Given the description of an element on the screen output the (x, y) to click on. 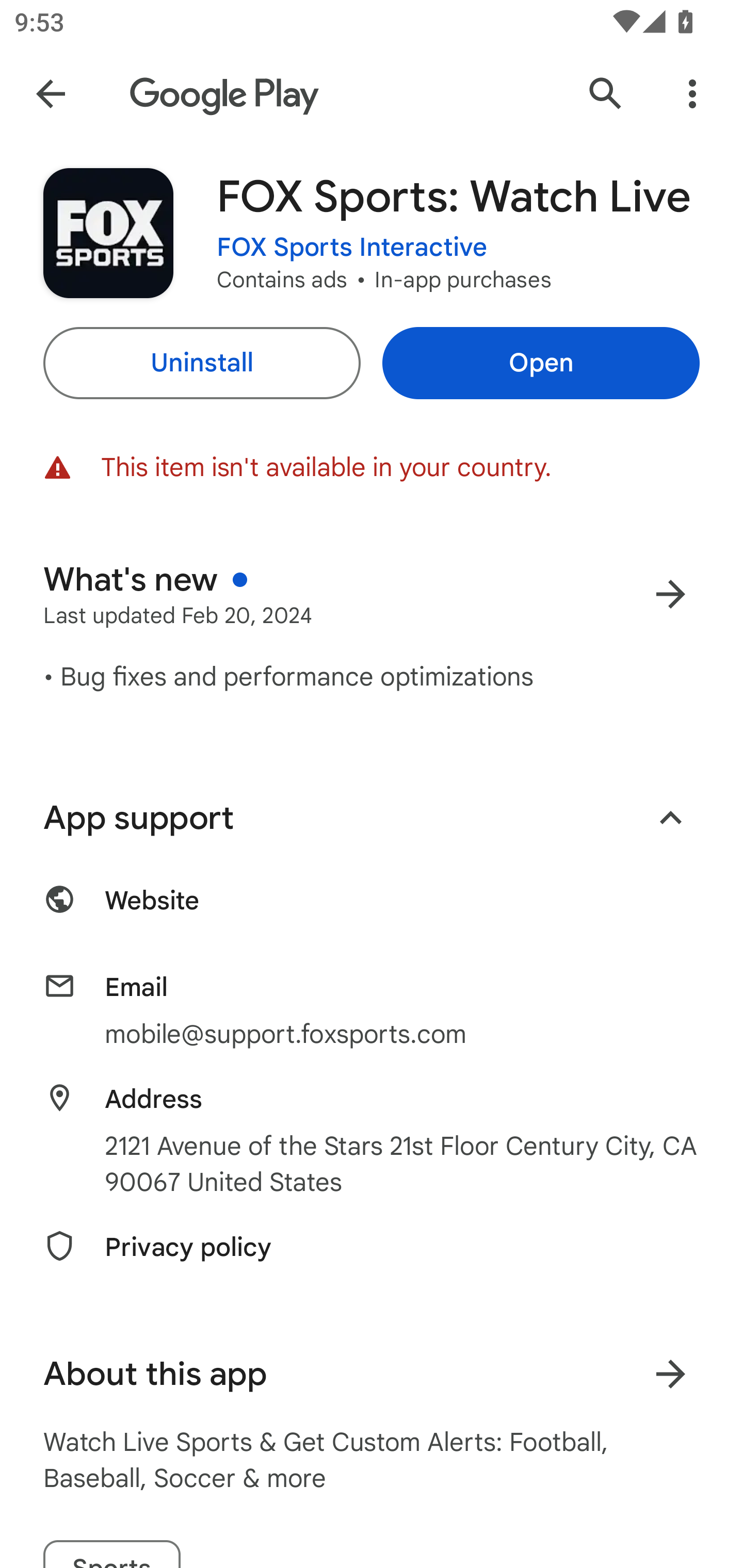
Navigate up (50, 93)
Search Google Play (605, 93)
More Options (692, 93)
FOX Sports Interactive (351, 247)
Uninstall (201, 362)
Open (540, 362)
More results for What's new (670, 594)
App support Collapse (371, 817)
Collapse (670, 817)
Website (371, 911)
Email mobile@support.foxsports.com (371, 1010)
Privacy policy (371, 1258)
About this app Learn more About this app (371, 1374)
Learn more About this app (670, 1374)
